Given the description of an element on the screen output the (x, y) to click on. 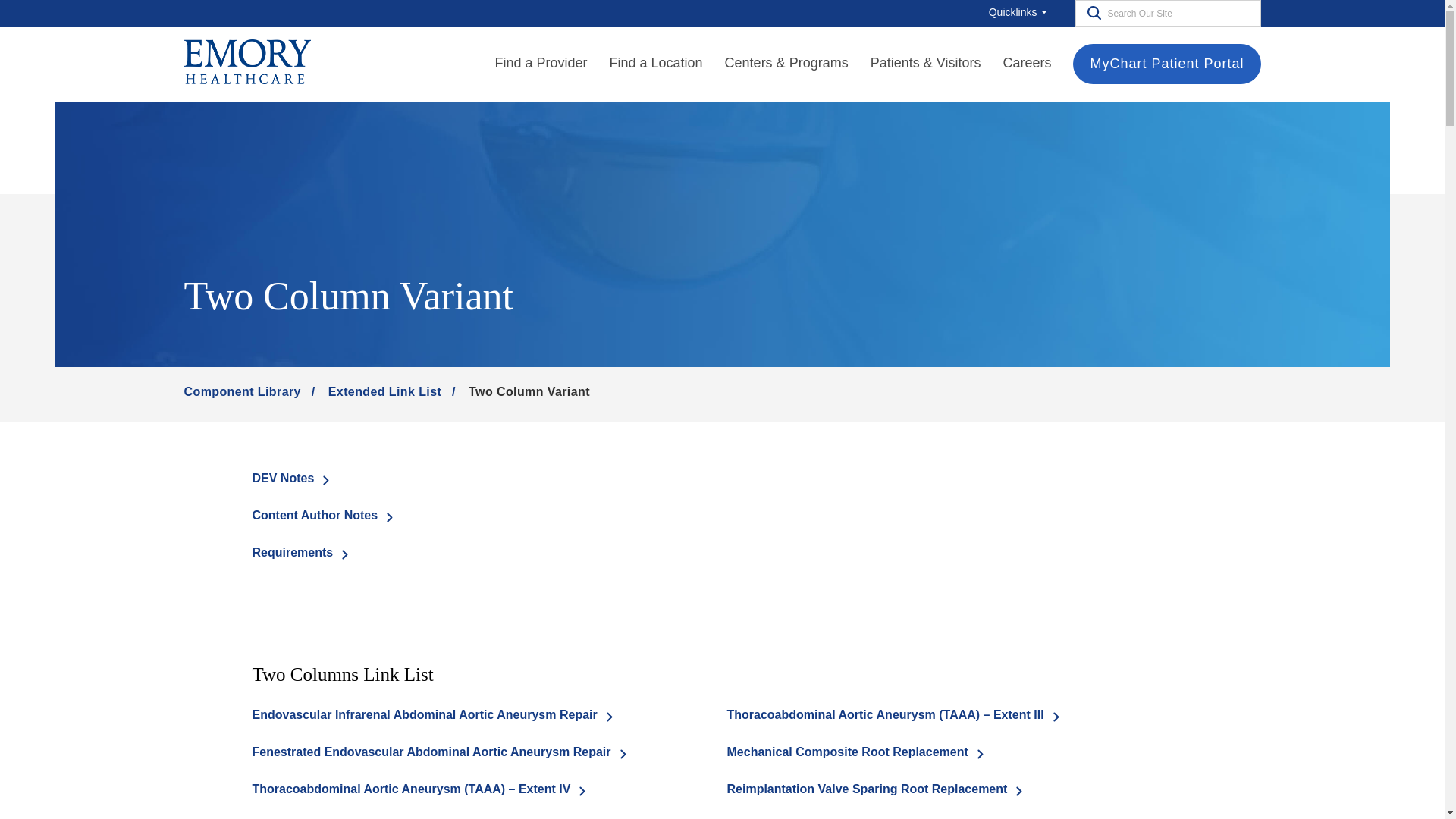
Quicklinks (1020, 12)
Find a Provider (540, 63)
Search (1090, 12)
Careers (1027, 63)
Find a Location (656, 63)
Header Logo (246, 63)
